Given the description of an element on the screen output the (x, y) to click on. 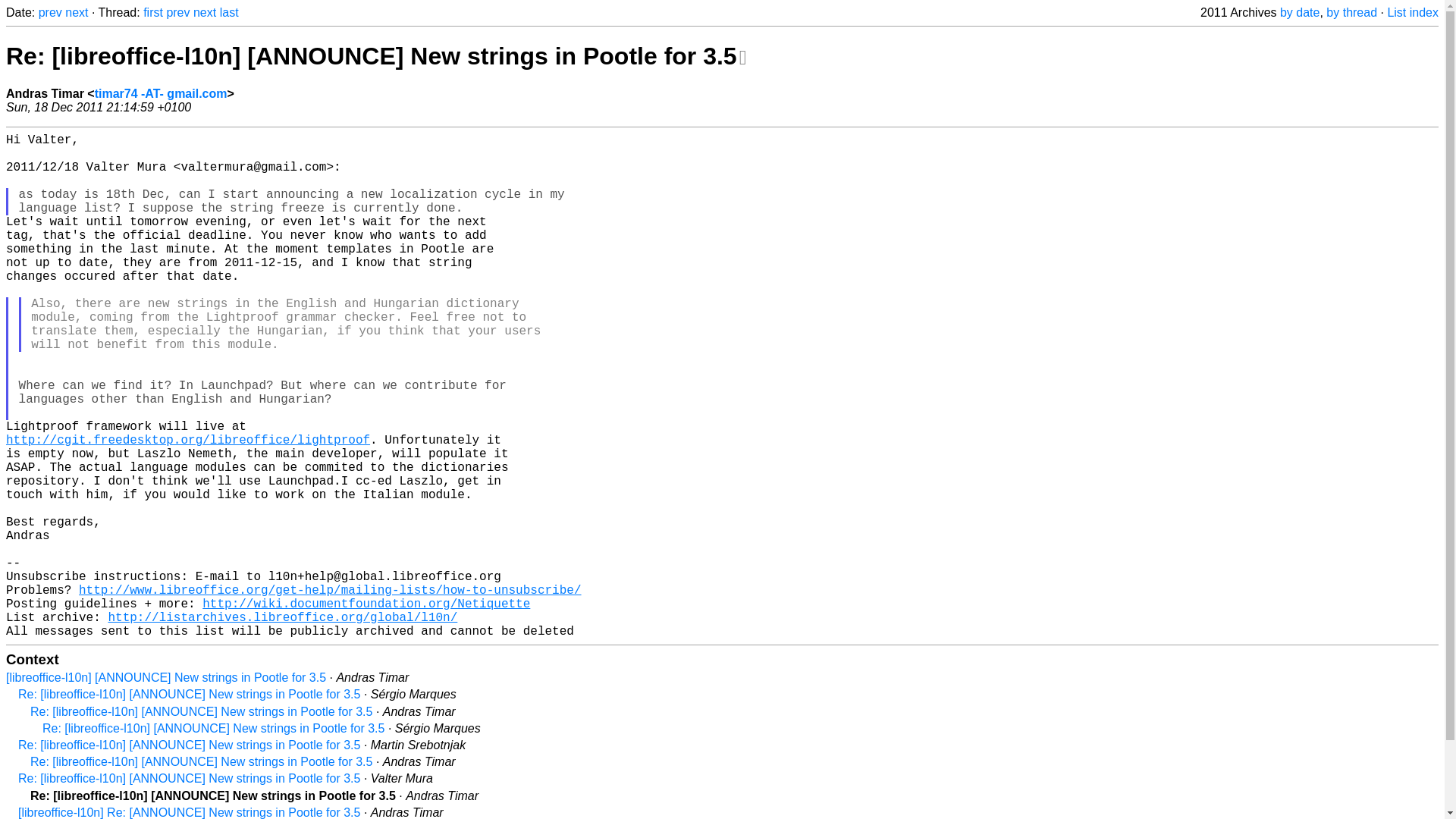
prev (177, 11)
timar74 -AT- gmail.com (160, 92)
next (76, 11)
prev (50, 11)
last (228, 11)
by date (1299, 11)
next (204, 11)
first (152, 11)
by thread (1351, 11)
